Given the description of an element on the screen output the (x, y) to click on. 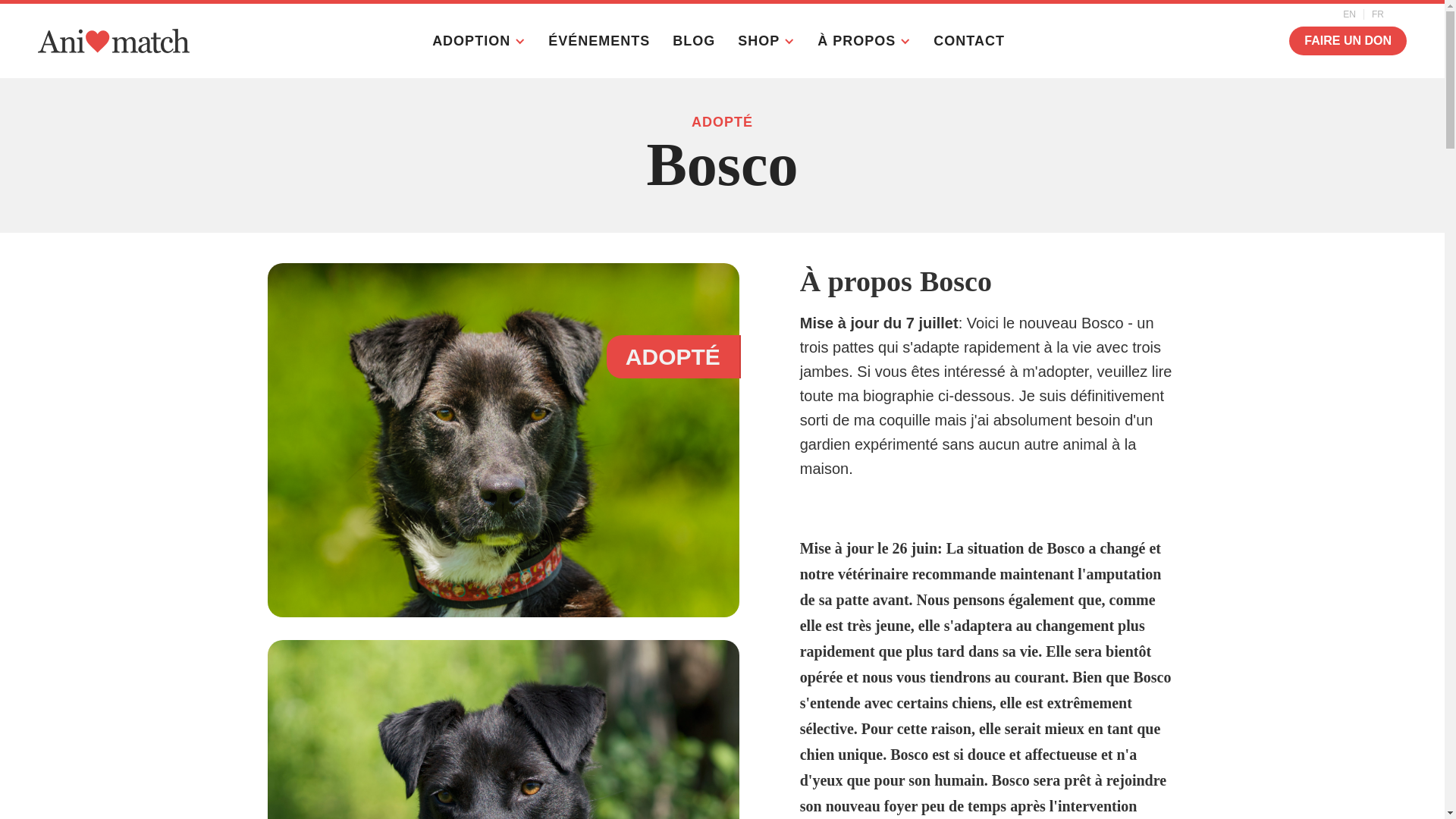
BLOG Element type: text (697, 40)
EN Element type: text (1349, 14)
CONTACT Element type: text (972, 40)
FR Element type: text (1377, 14)
FAIRE UN DON Element type: text (1347, 40)
